Given the description of an element on the screen output the (x, y) to click on. 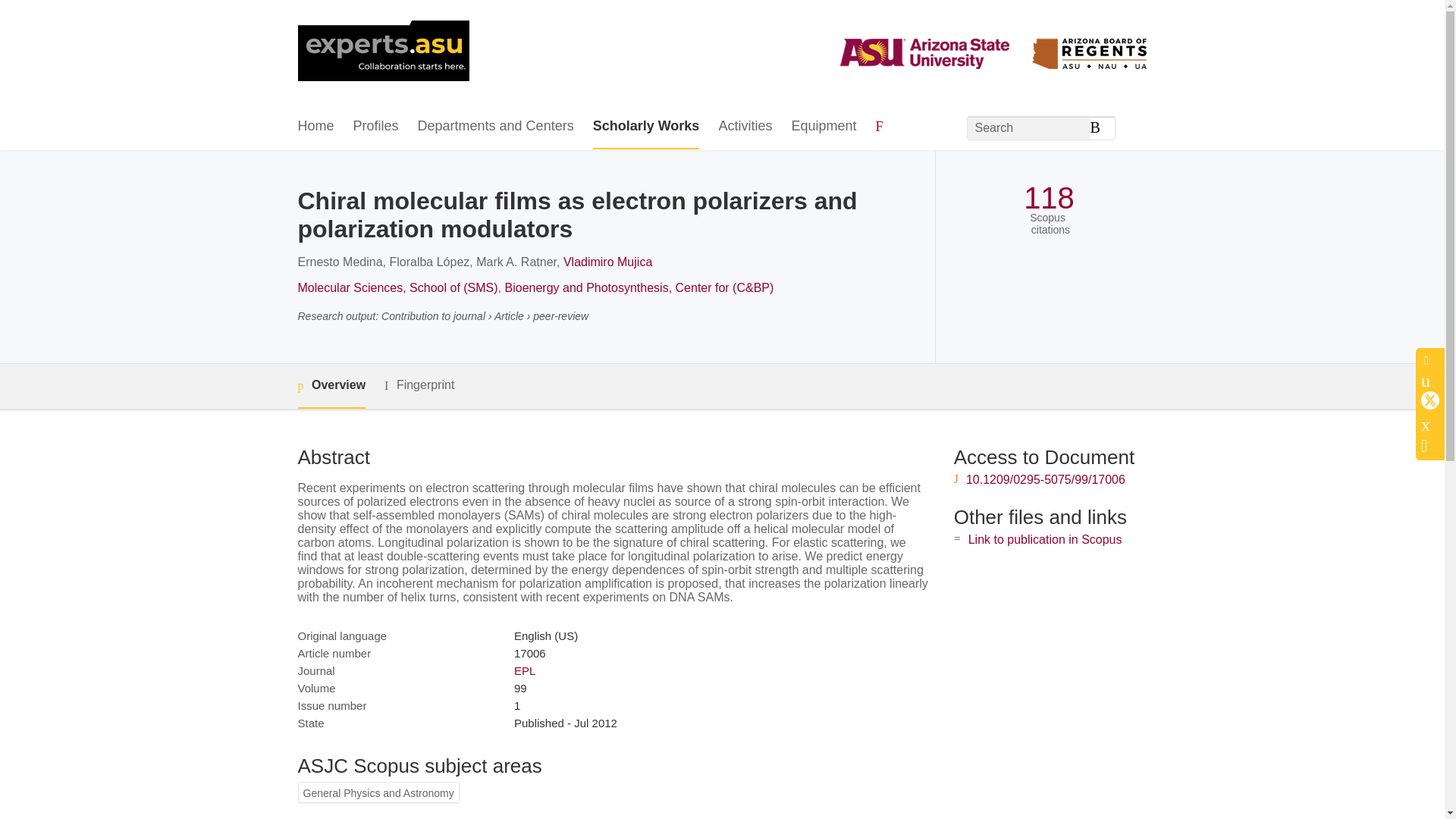
Profiles (375, 126)
Departments and Centers (495, 126)
Activities (744, 126)
118 (1048, 198)
Scholarly Works (646, 126)
Overview (331, 385)
Fingerprint (419, 385)
Vladimiro Mujica (607, 261)
Arizona State University Home (382, 52)
Link to publication in Scopus (1045, 539)
Equipment (823, 126)
EPL (524, 670)
